Given the description of an element on the screen output the (x, y) to click on. 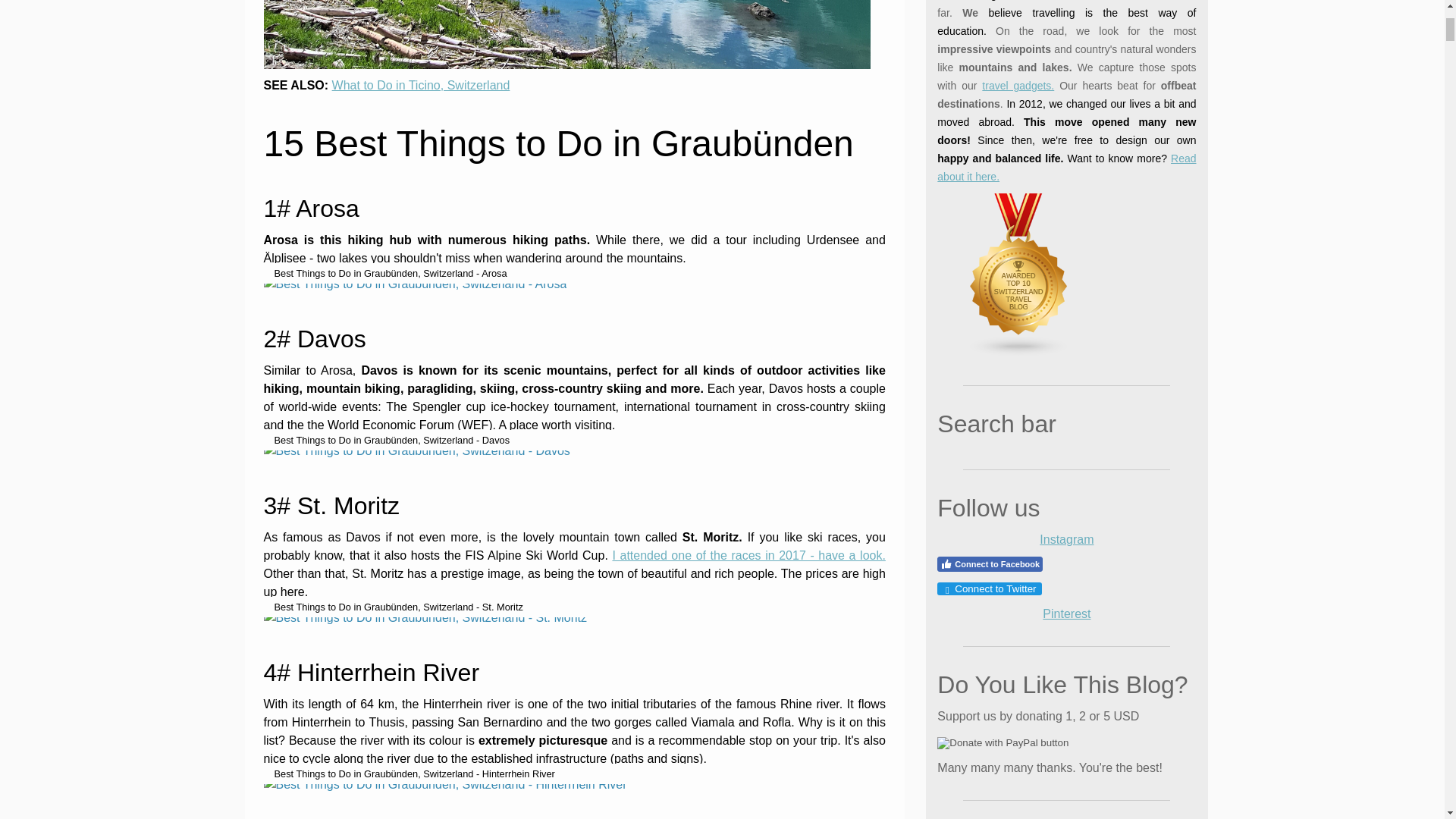
About us (1066, 41)
Switzerland Travel Blogs (1009, 75)
A Day at the Ski World Cup in St. Moritz, Switzerland (748, 42)
PayPal - The safer, easier way to pay online! (1002, 466)
